Given the description of an element on the screen output the (x, y) to click on. 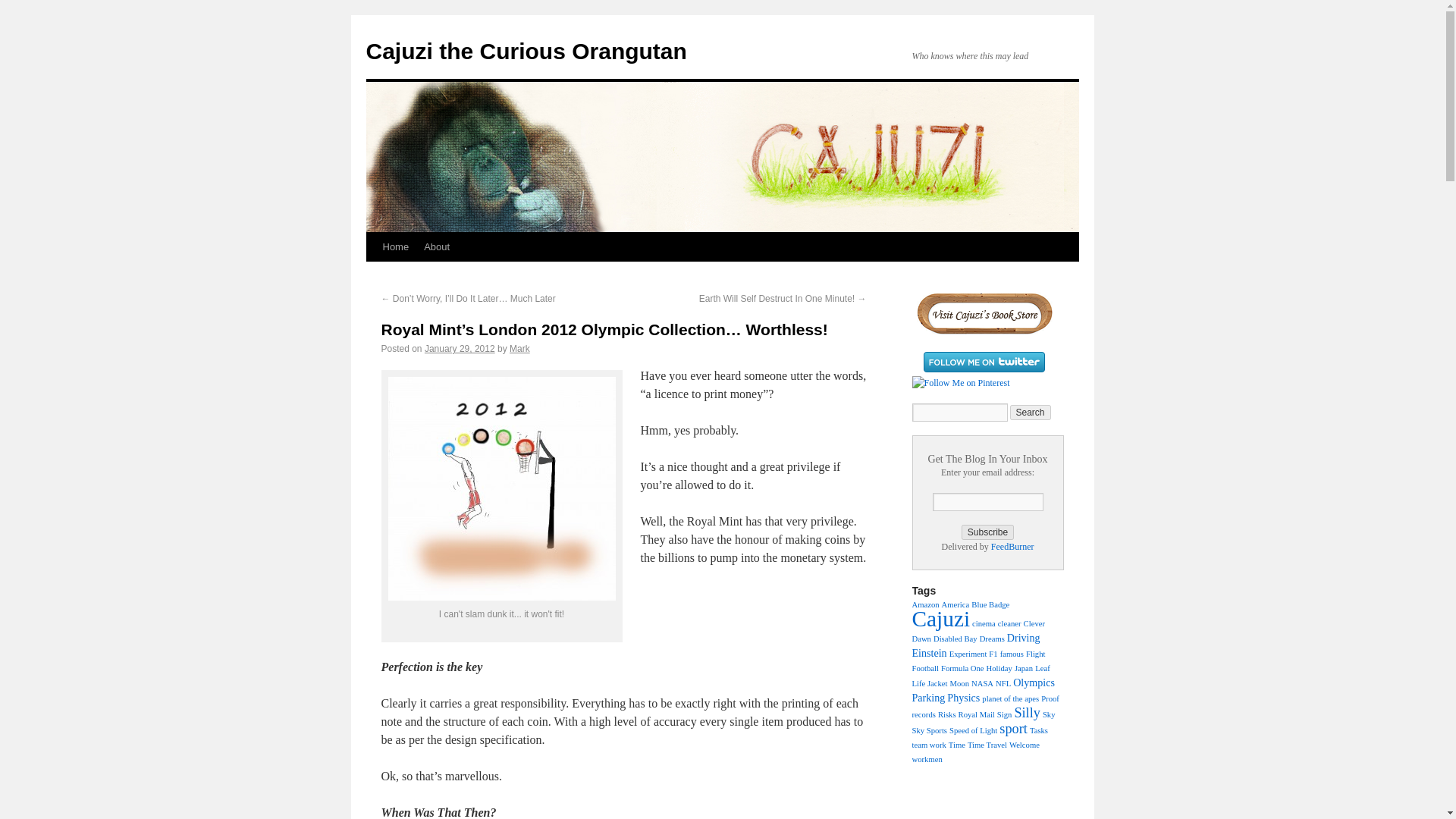
Cajuzi the Curious Orangutan (525, 50)
My Blog (395, 246)
FeedBurner (1012, 546)
Search (1030, 412)
Cajuzi the Curious Orangutan (525, 50)
About (436, 246)
Search (1030, 412)
Amazon (925, 604)
Subscribe (986, 531)
Mark (519, 348)
